Given the description of an element on the screen output the (x, y) to click on. 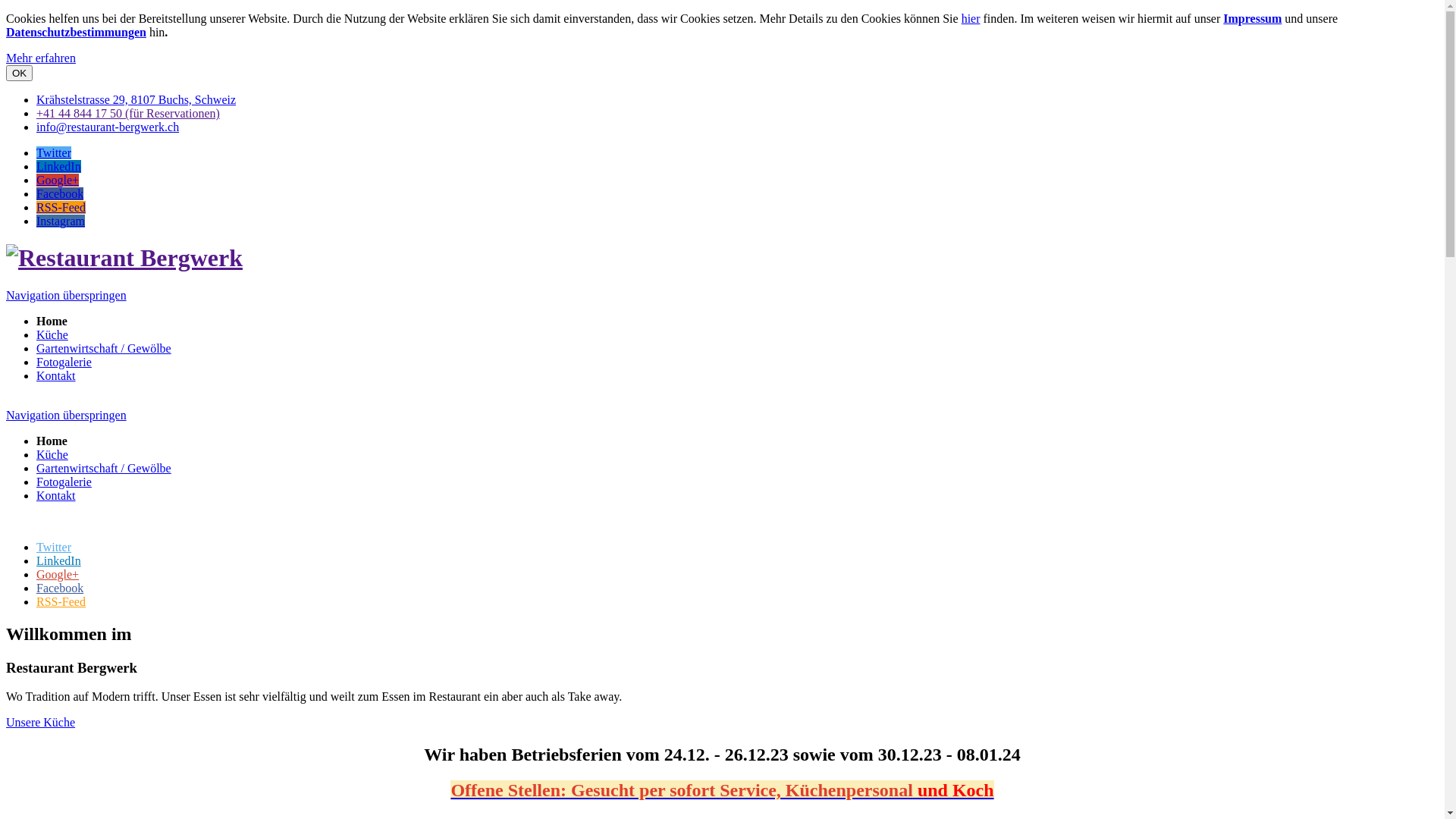
Twitter Element type: text (53, 152)
RSS-Feed Element type: text (60, 206)
Fotogalerie Element type: text (63, 361)
Kontakt Element type: text (55, 375)
Mehr erfahren Element type: text (40, 57)
Impressum Element type: text (1252, 18)
Facebook Element type: text (59, 193)
Kontakt Element type: text (55, 495)
OK Element type: text (19, 73)
Instagram Element type: text (60, 220)
hier Element type: text (970, 18)
  Element type: text (7, 401)
Twitter Element type: text (53, 546)
Facebook Element type: text (59, 587)
RSS-Feed Element type: text (60, 601)
Datenschutzbestimmungen Element type: text (76, 31)
Google+ Element type: text (57, 573)
LinkedIn Element type: text (58, 560)
Fotogalerie Element type: text (63, 481)
info@restaurant-bergwerk.ch Element type: text (107, 126)
LinkedIn Element type: text (58, 166)
  Element type: text (7, 520)
Google+ Element type: text (57, 179)
